Given the description of an element on the screen output the (x, y) to click on. 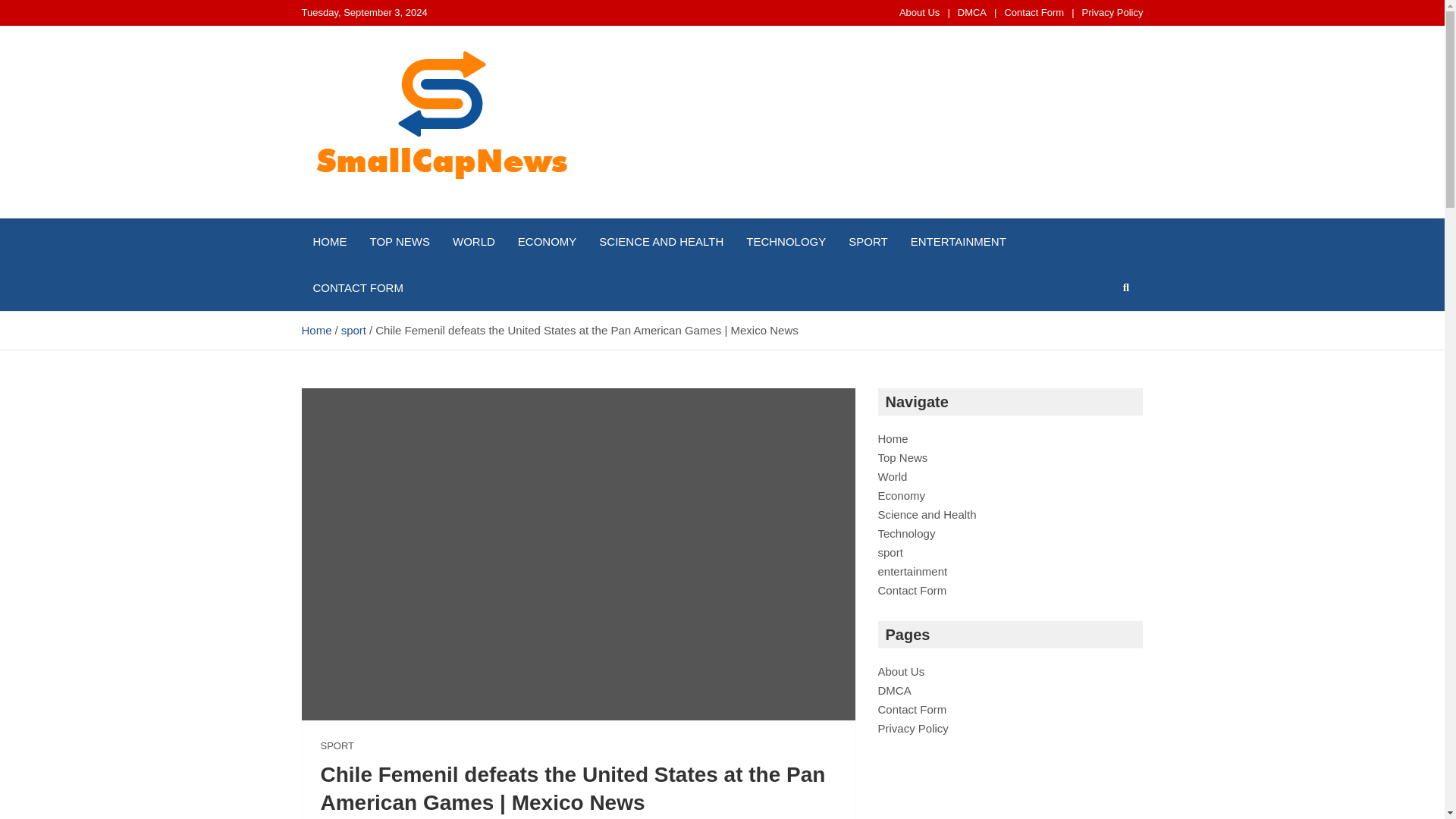
WORLD (473, 241)
Technology (906, 533)
ECONOMY (547, 241)
SPORT (867, 241)
About Us (900, 671)
Contact Form (912, 590)
Home (316, 329)
CONTACT FORM (357, 287)
DMCA (972, 12)
ENTERTAINMENT (958, 241)
